Given the description of an element on the screen output the (x, y) to click on. 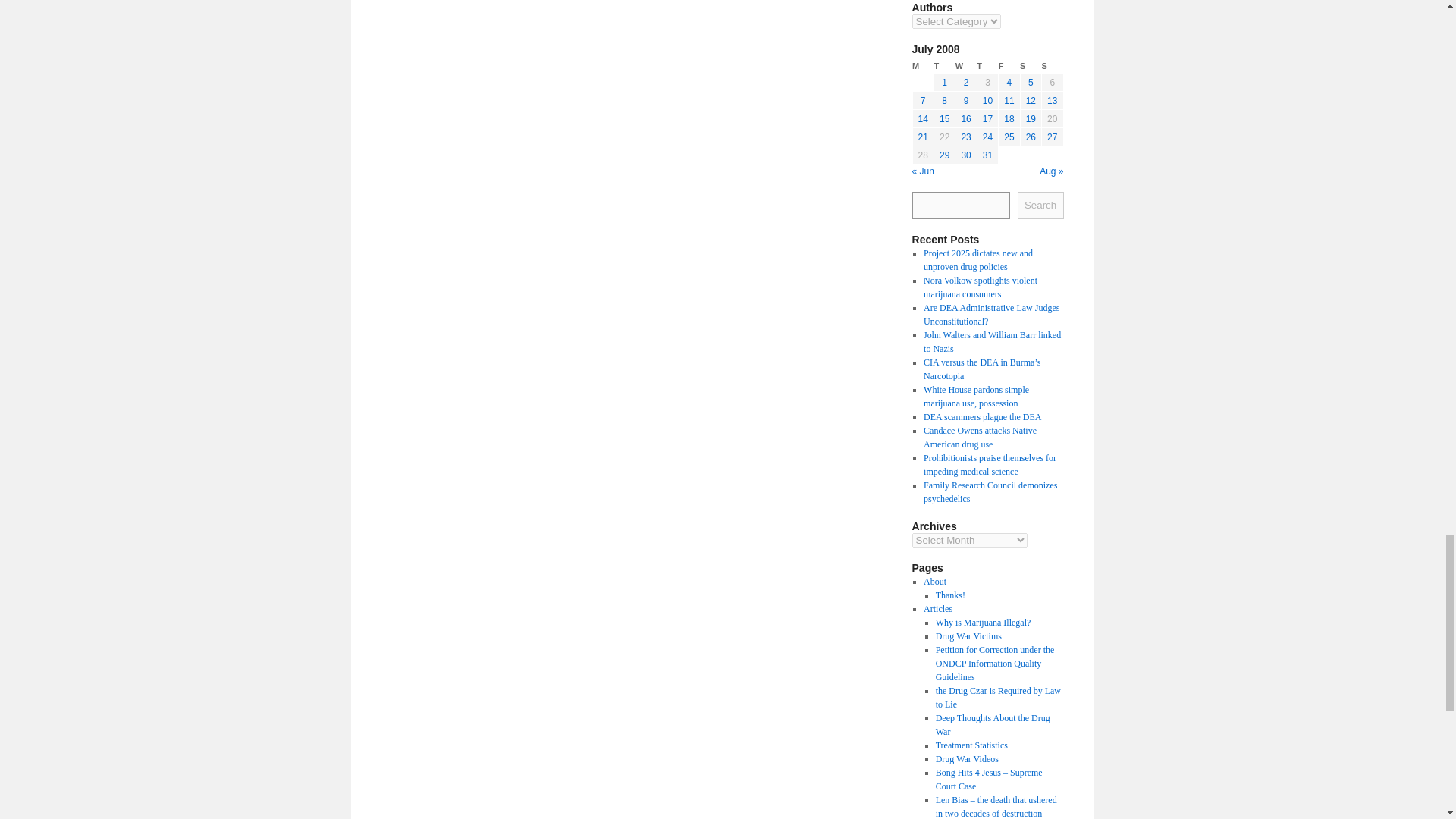
Wednesday (965, 65)
Thursday (986, 65)
Monday (922, 65)
Tuesday (944, 65)
